Given the description of an element on the screen output the (x, y) to click on. 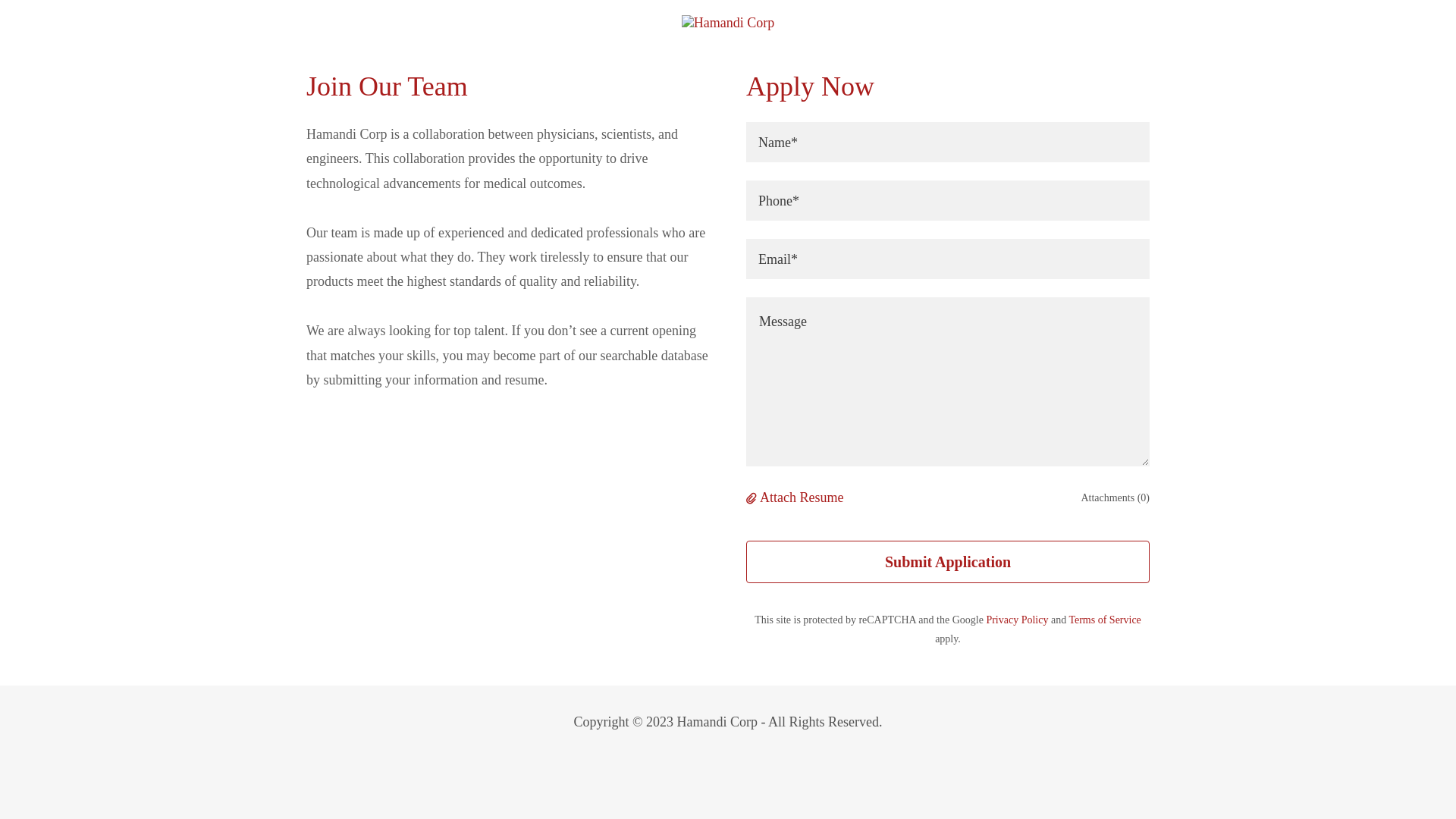
Submit Application (947, 561)
Terms of Service (1104, 619)
Hamandi Corp (727, 21)
Privacy Policy (1016, 619)
